Given the description of an element on the screen output the (x, y) to click on. 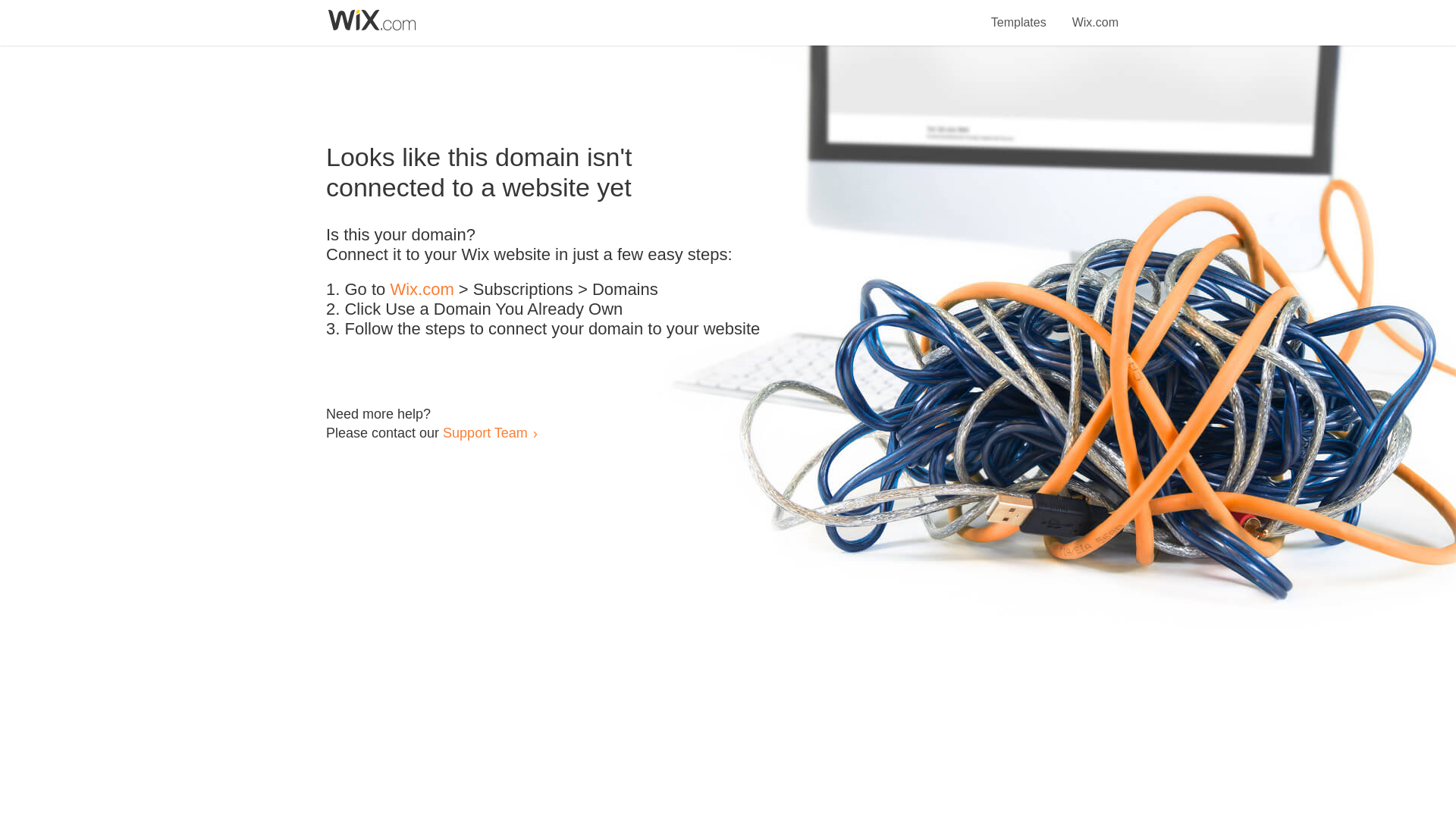
Wix.com (421, 289)
Wix.com (1095, 14)
Support Team (484, 432)
Templates (1018, 14)
